Given the description of an element on the screen output the (x, y) to click on. 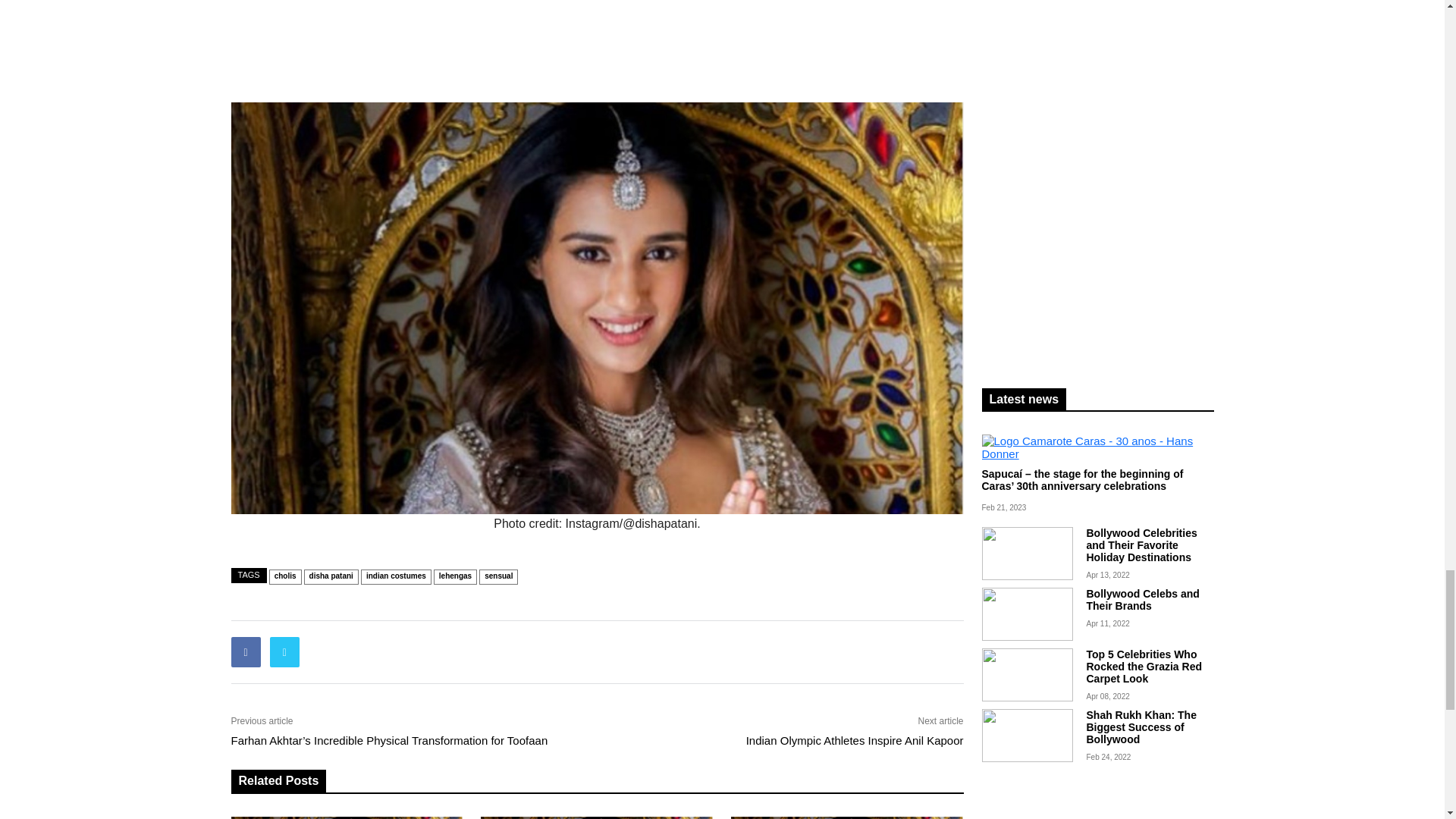
Facebook (245, 652)
Twitter (284, 652)
cholis (285, 576)
